Given the description of an element on the screen output the (x, y) to click on. 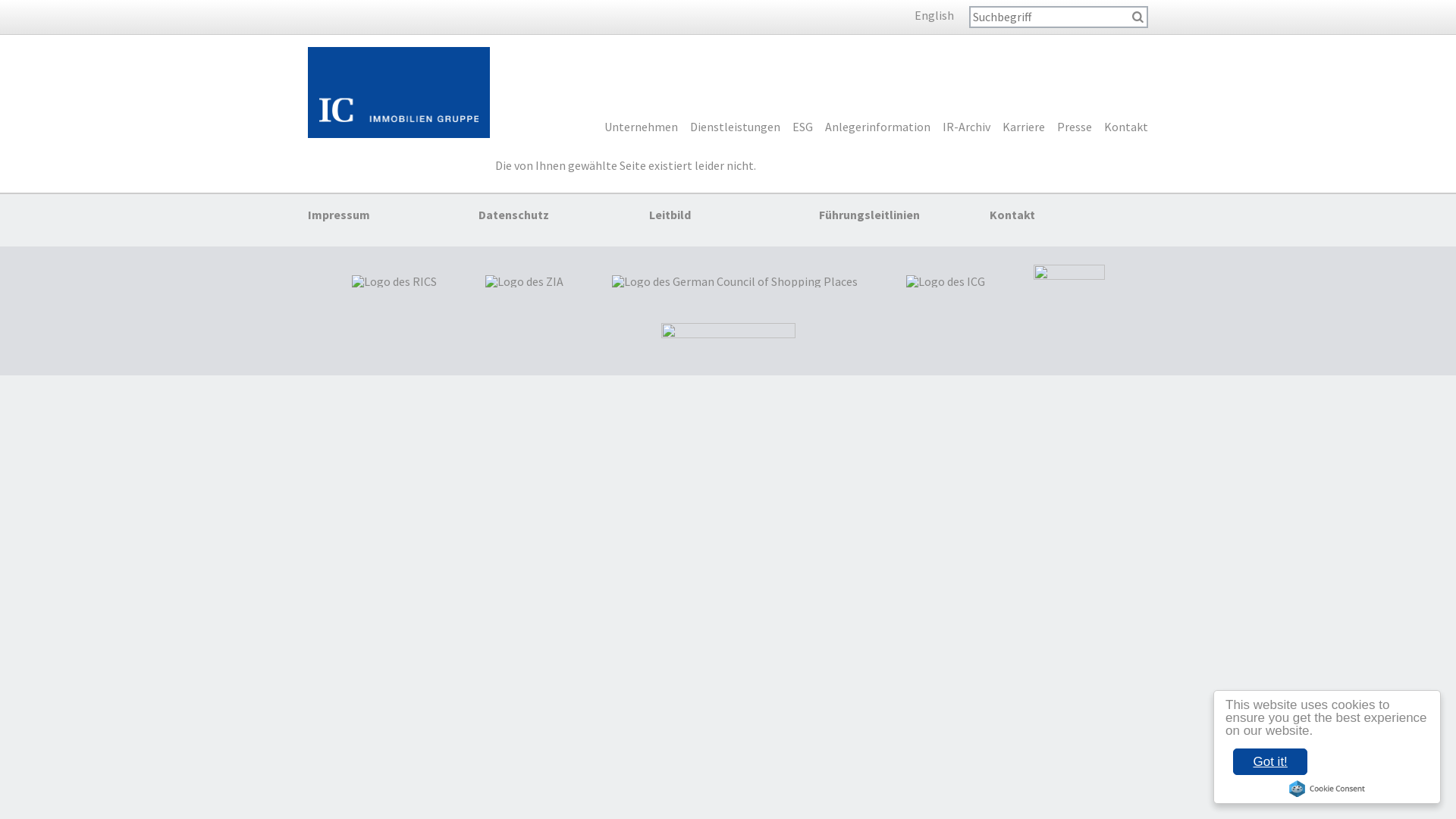
Datenschutz Element type: text (513, 214)
IR-Archiv Element type: text (966, 129)
Leitbild Element type: text (669, 214)
Startseite Element type: text (398, 92)
Kontakt Element type: text (1126, 129)
Cookie Consent plugin for the EU cookie law Element type: text (1327, 788)
English Element type: hover (908, 14)
ESG Element type: text (802, 129)
Got it! Element type: text (1270, 761)
Dienstleistungen Element type: text (735, 129)
Unternehmen Element type: text (640, 129)
Presse Element type: text (1074, 129)
English Element type: text (934, 14)
Kontakt Element type: text (1012, 214)
Anlegerinformation Element type: text (877, 129)
Impressum Element type: text (338, 214)
Karriere Element type: text (1023, 129)
